Given the description of an element on the screen output the (x, y) to click on. 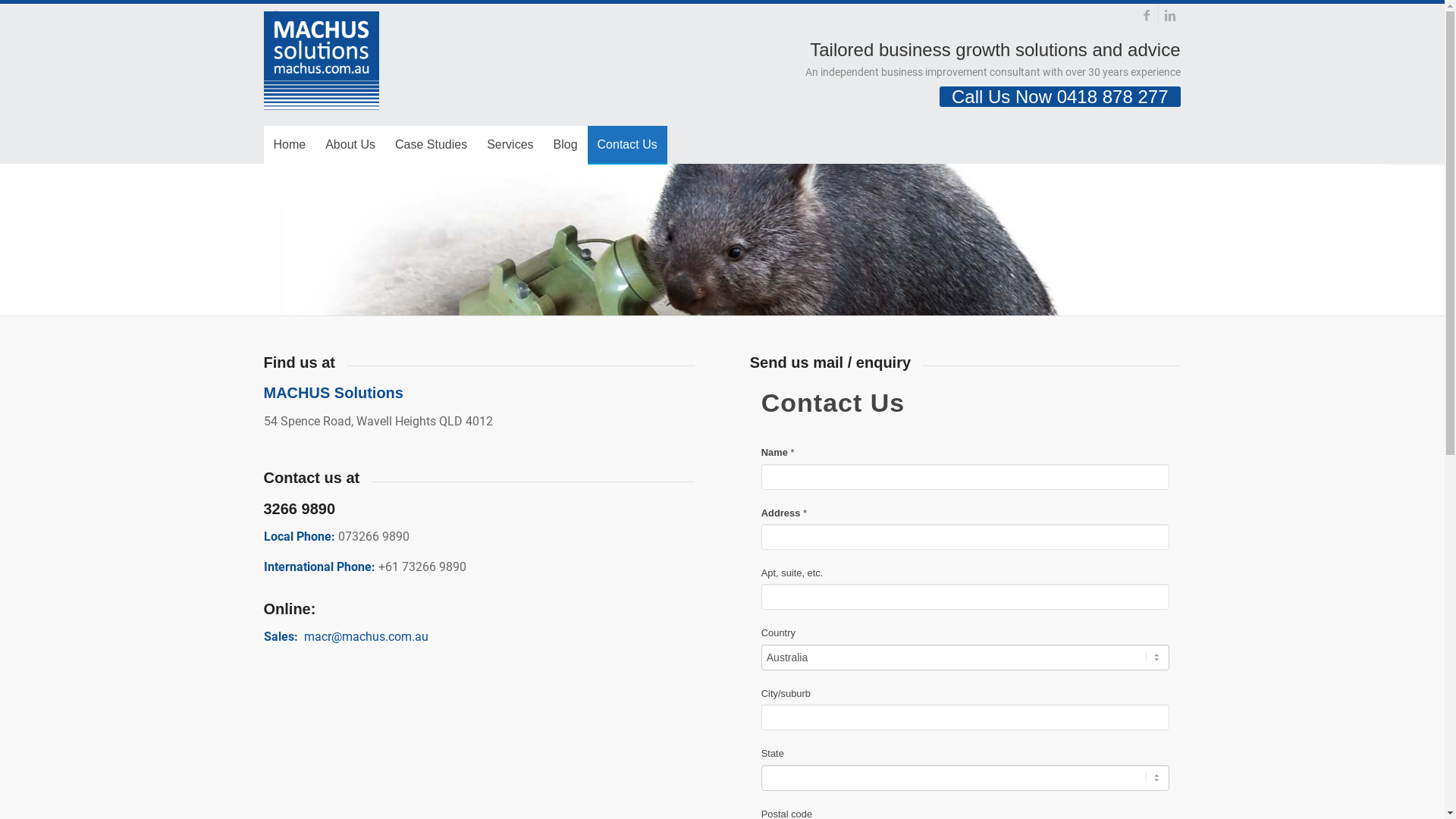
About Us Element type: text (350, 144)
Call Us Now 0418 878 277 Element type: text (1059, 96)
Facebook Element type: hover (1146, 14)
Case Studies Element type: text (430, 144)
macr@machus.com.au Element type: text (365, 636)
Contact Us Element type: text (627, 144)
Home Element type: text (289, 144)
Services Element type: text (509, 144)
Linkedin Element type: hover (1169, 14)
Blog Element type: text (565, 144)
